Given the description of an element on the screen output the (x, y) to click on. 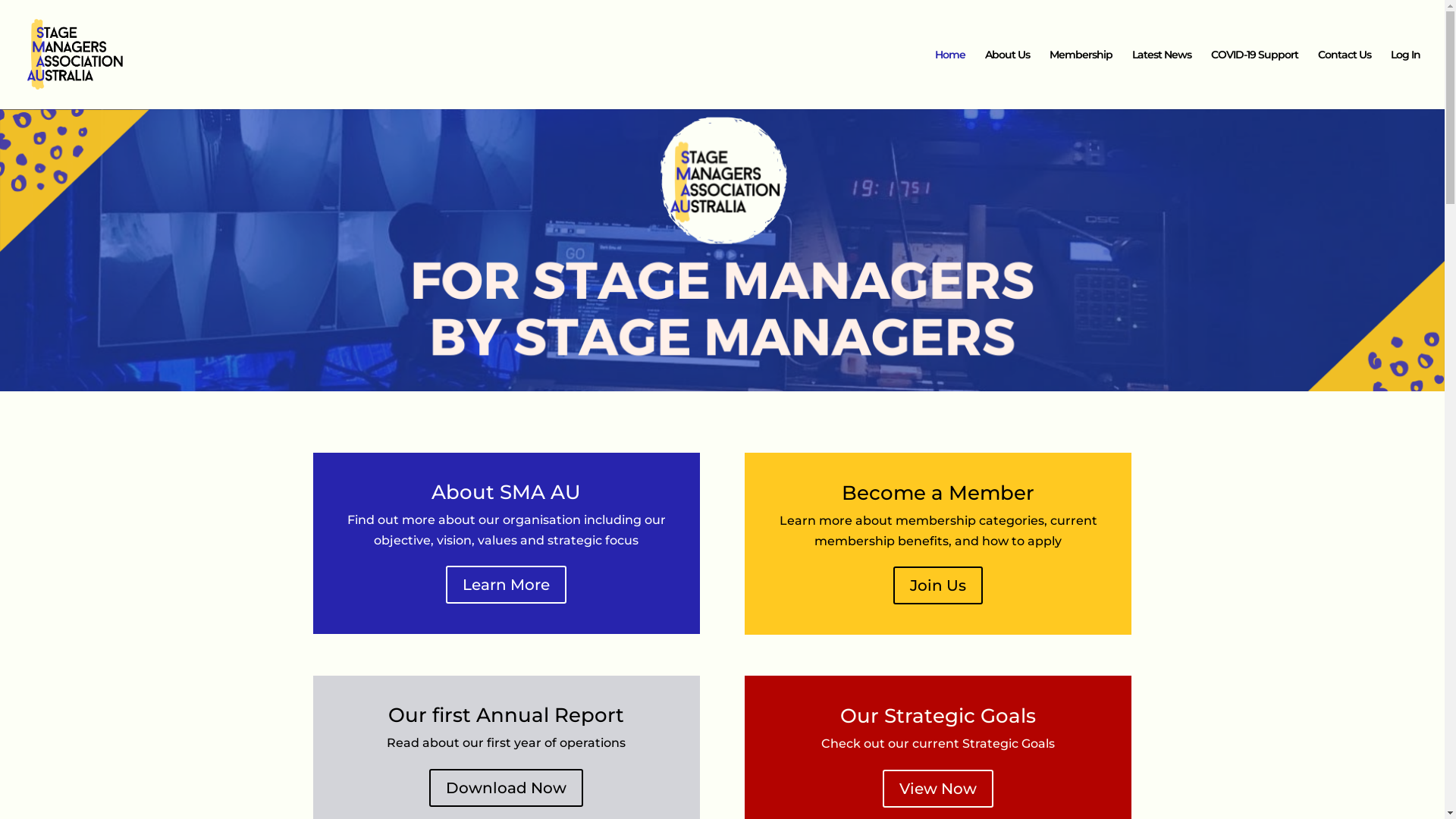
Contact Us Element type: text (1344, 79)
Learn More Element type: text (505, 584)
Join Us Element type: text (937, 585)
About Us Element type: text (1007, 79)
Membership Element type: text (1080, 79)
View Now Element type: text (937, 788)
Download Now Element type: text (506, 787)
Log In Element type: text (1405, 79)
SMA Website Banner-2 Element type: hover (722, 250)
Home Element type: text (950, 79)
Latest News Element type: text (1161, 79)
COVID-19 Support Element type: text (1254, 79)
